Given the description of an element on the screen output the (x, y) to click on. 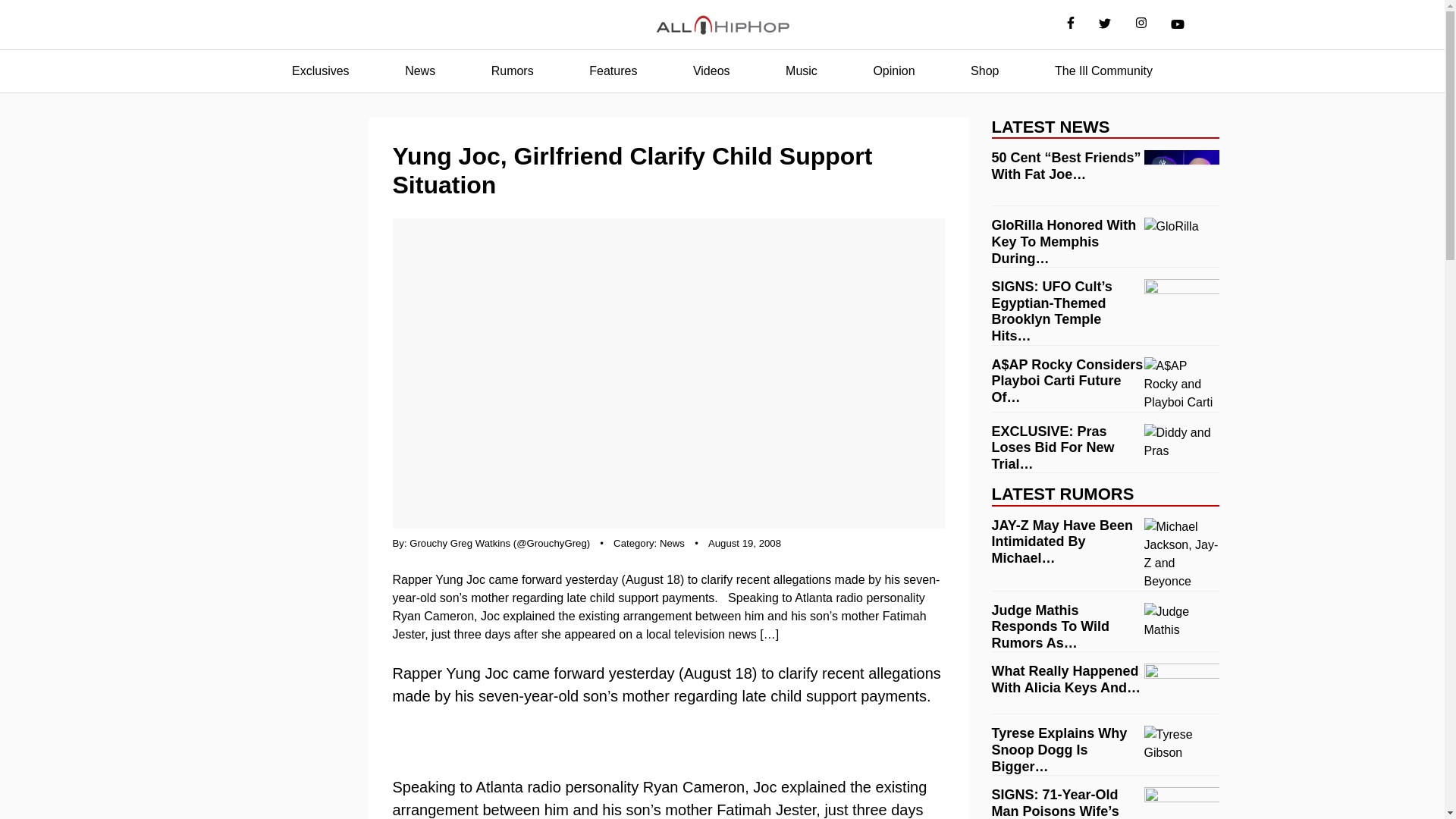
AllHipHop (722, 25)
Opinion (893, 70)
News (671, 542)
Features (612, 70)
The Ill Community (1103, 70)
Rumors (512, 70)
Exclusives (320, 70)
August 19, 2008 (743, 542)
News (419, 70)
Videos (711, 70)
